Given the description of an element on the screen output the (x, y) to click on. 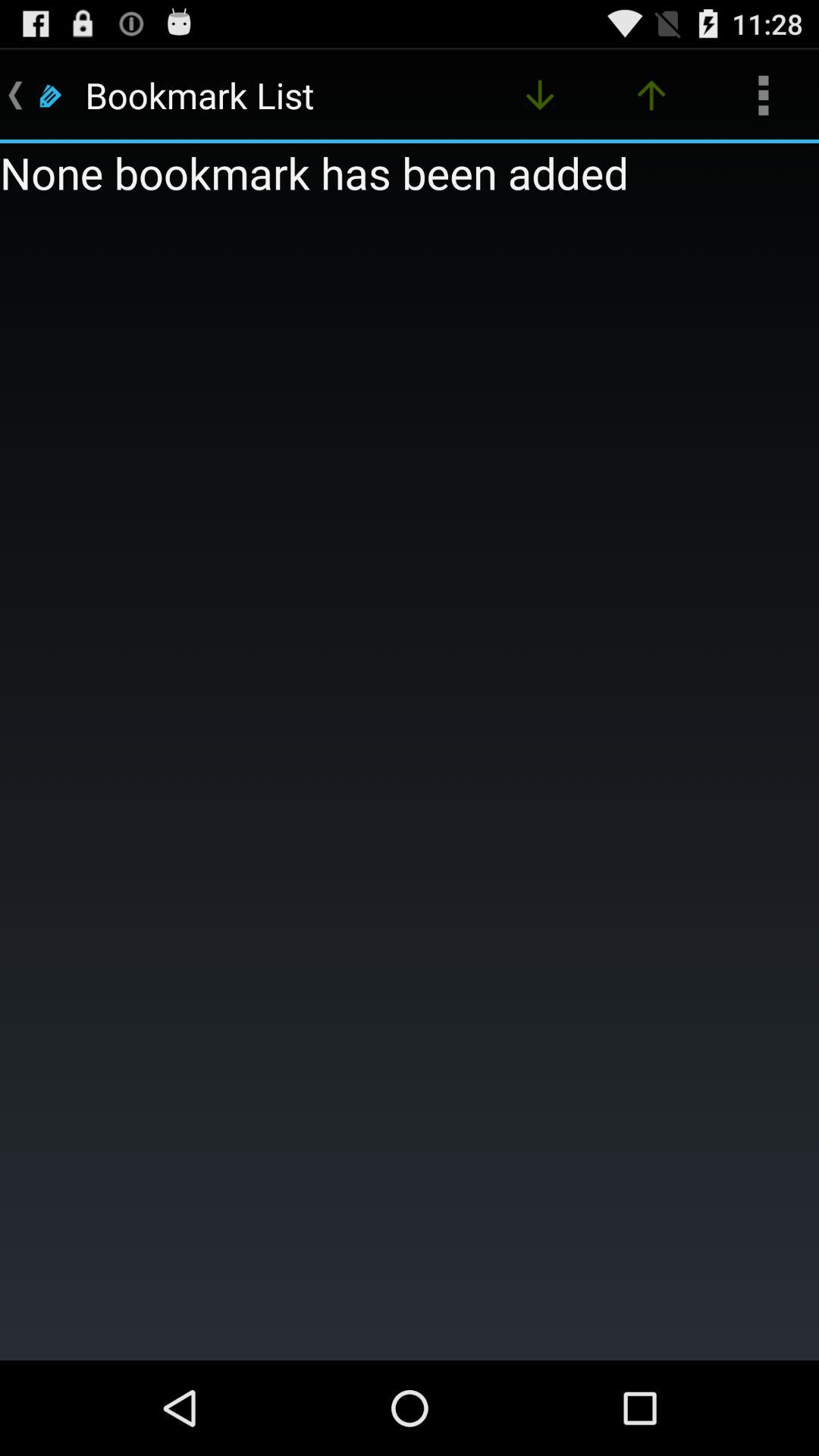
turn on the item at the top (540, 95)
